Given the description of an element on the screen output the (x, y) to click on. 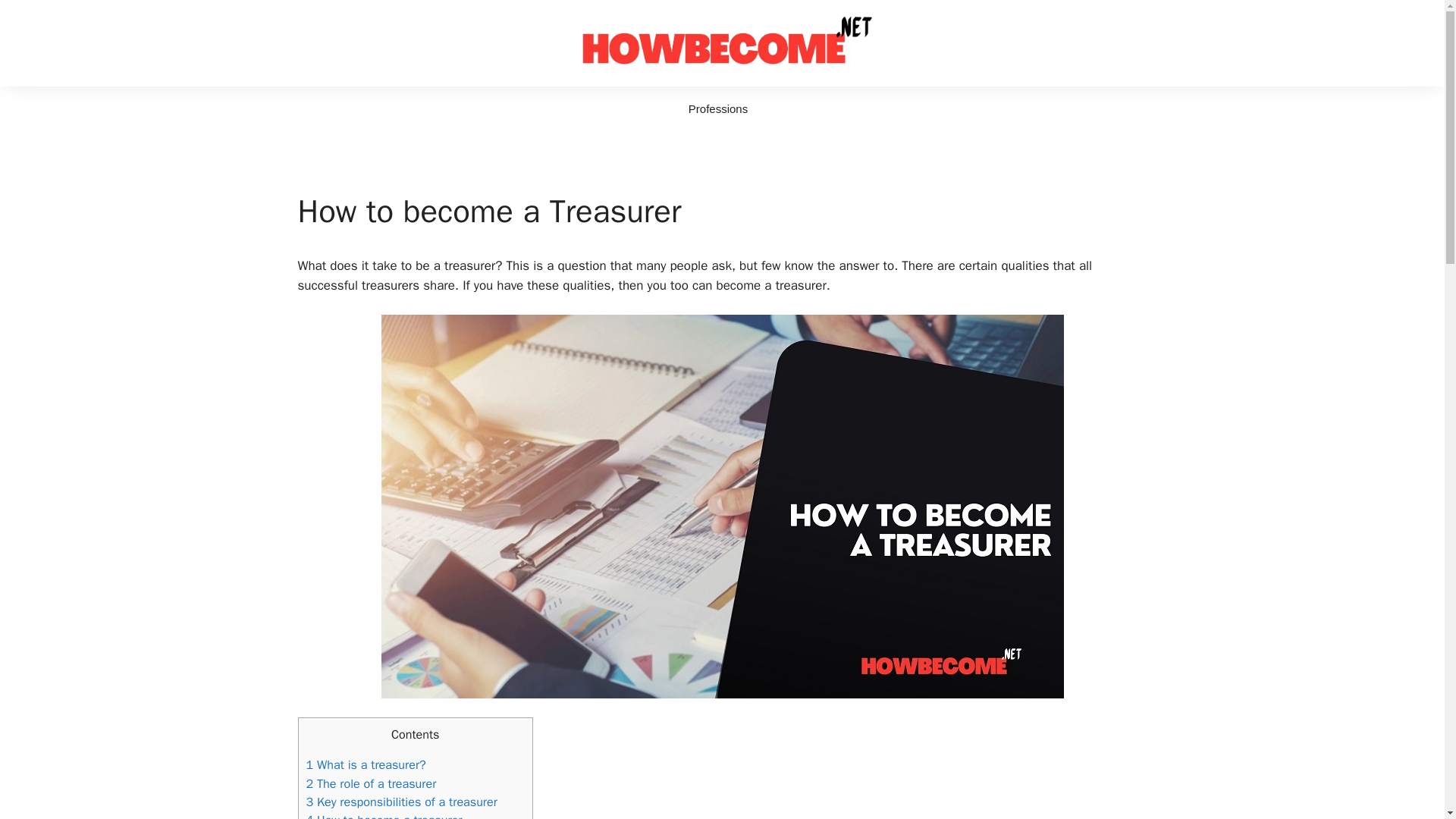
Professions (717, 108)
3 Key responsibilities of a treasurer (401, 801)
2 The role of a treasurer (370, 783)
1 What is a treasurer? (365, 764)
How Become (721, 43)
4 How to become a treasurer (384, 815)
How Become (721, 41)
